Given the description of an element on the screen output the (x, y) to click on. 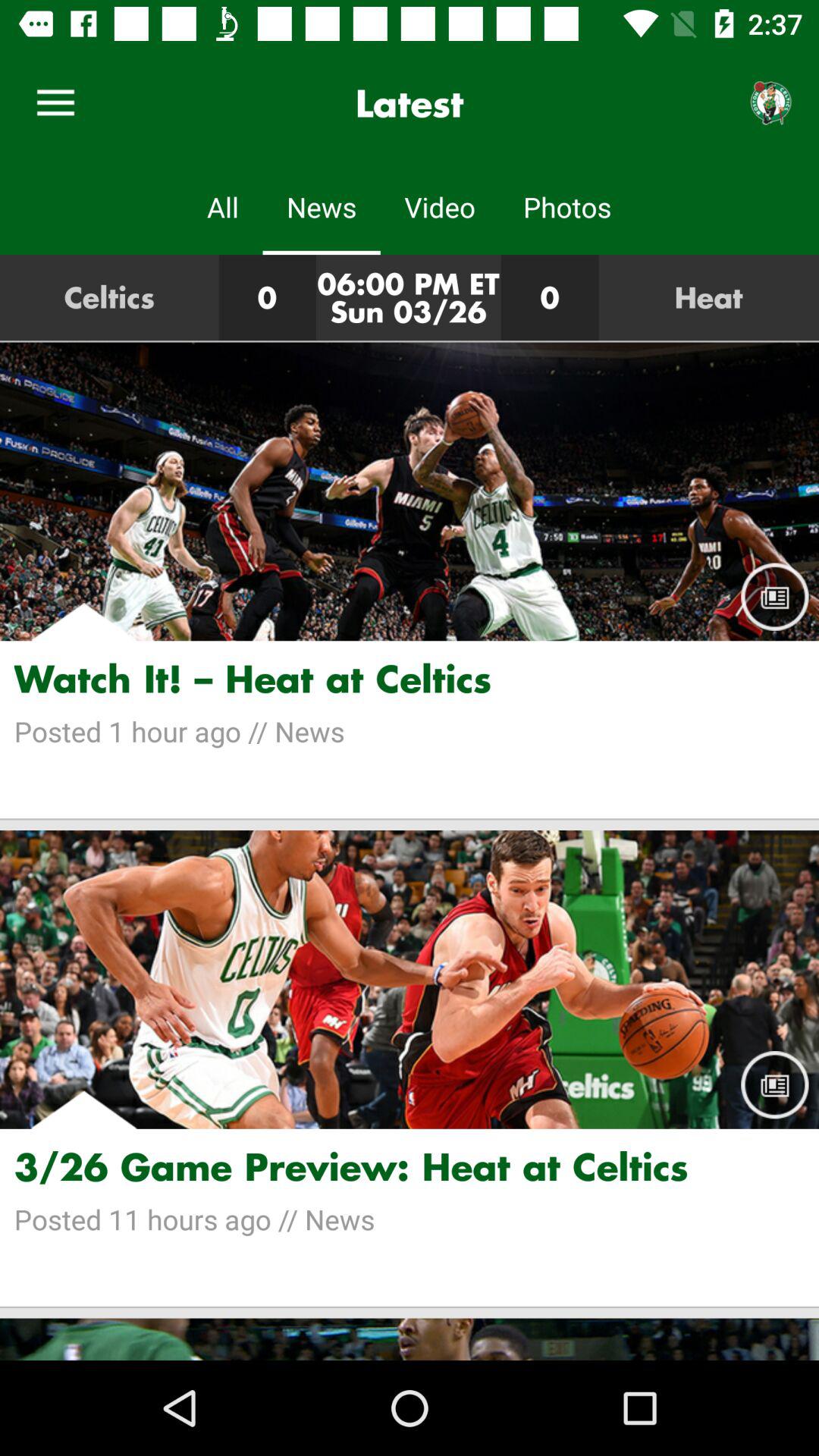
open the posted 1 hour item (409, 731)
